Given the description of an element on the screen output the (x, y) to click on. 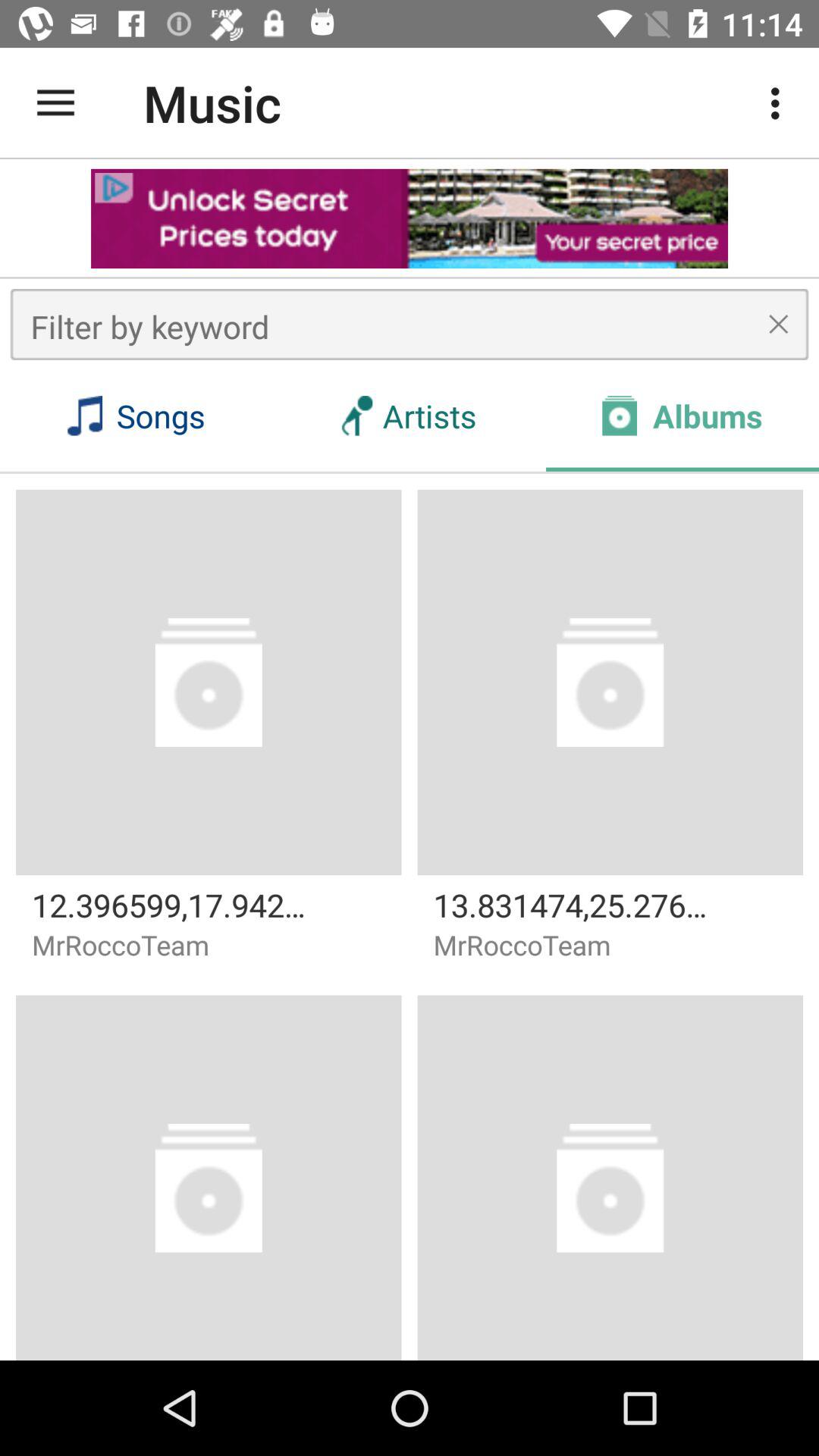
advertisement (409, 218)
